Given the description of an element on the screen output the (x, y) to click on. 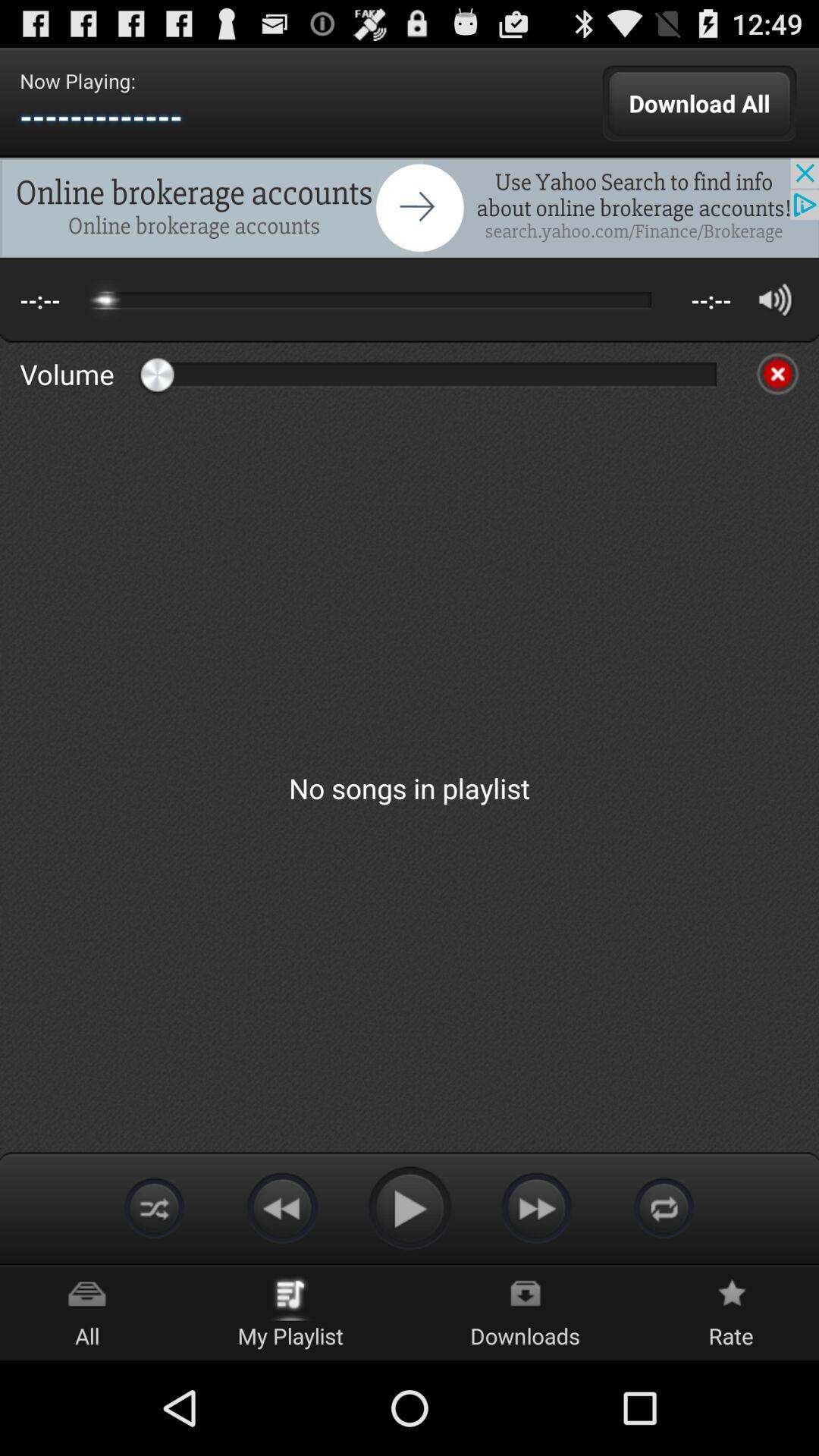
go to play (409, 1207)
